Given the description of an element on the screen output the (x, y) to click on. 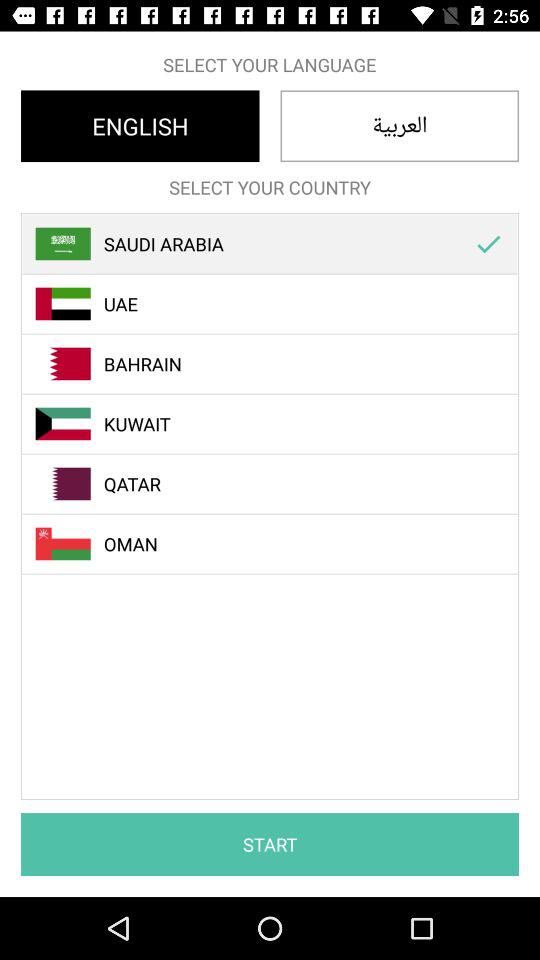
choose the icon to the right of the saudi arabia icon (488, 243)
